Given the description of an element on the screen output the (x, y) to click on. 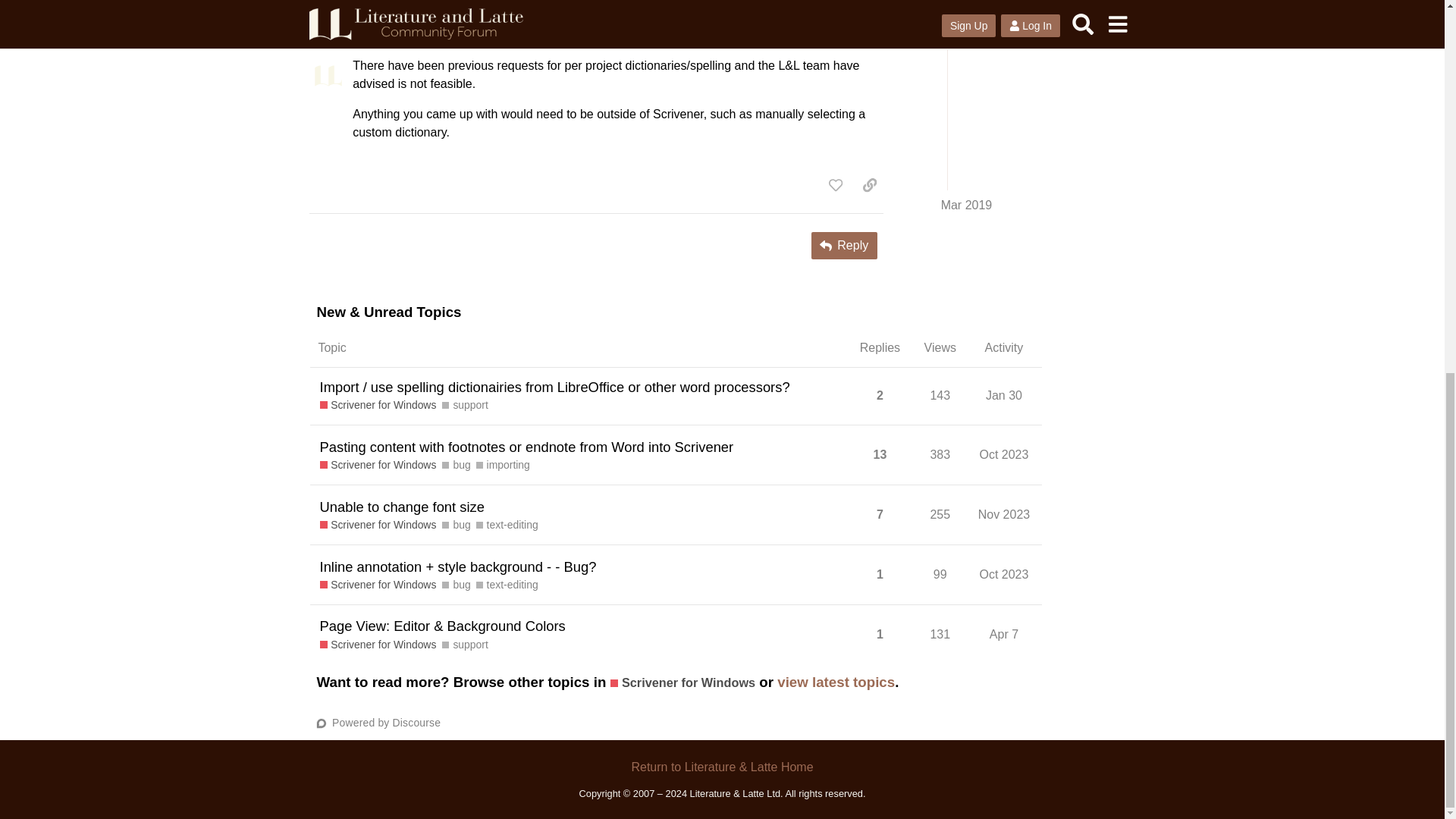
Scrivener for Windows (378, 405)
Post date (850, 31)
system (373, 32)
This user is a moderator (402, 31)
Reply (843, 245)
bug (456, 465)
Scrivener for Windows (378, 465)
support (464, 405)
Jan 30 (1003, 395)
importing (502, 465)
Mar 2019 (850, 31)
